Given the description of an element on the screen output the (x, y) to click on. 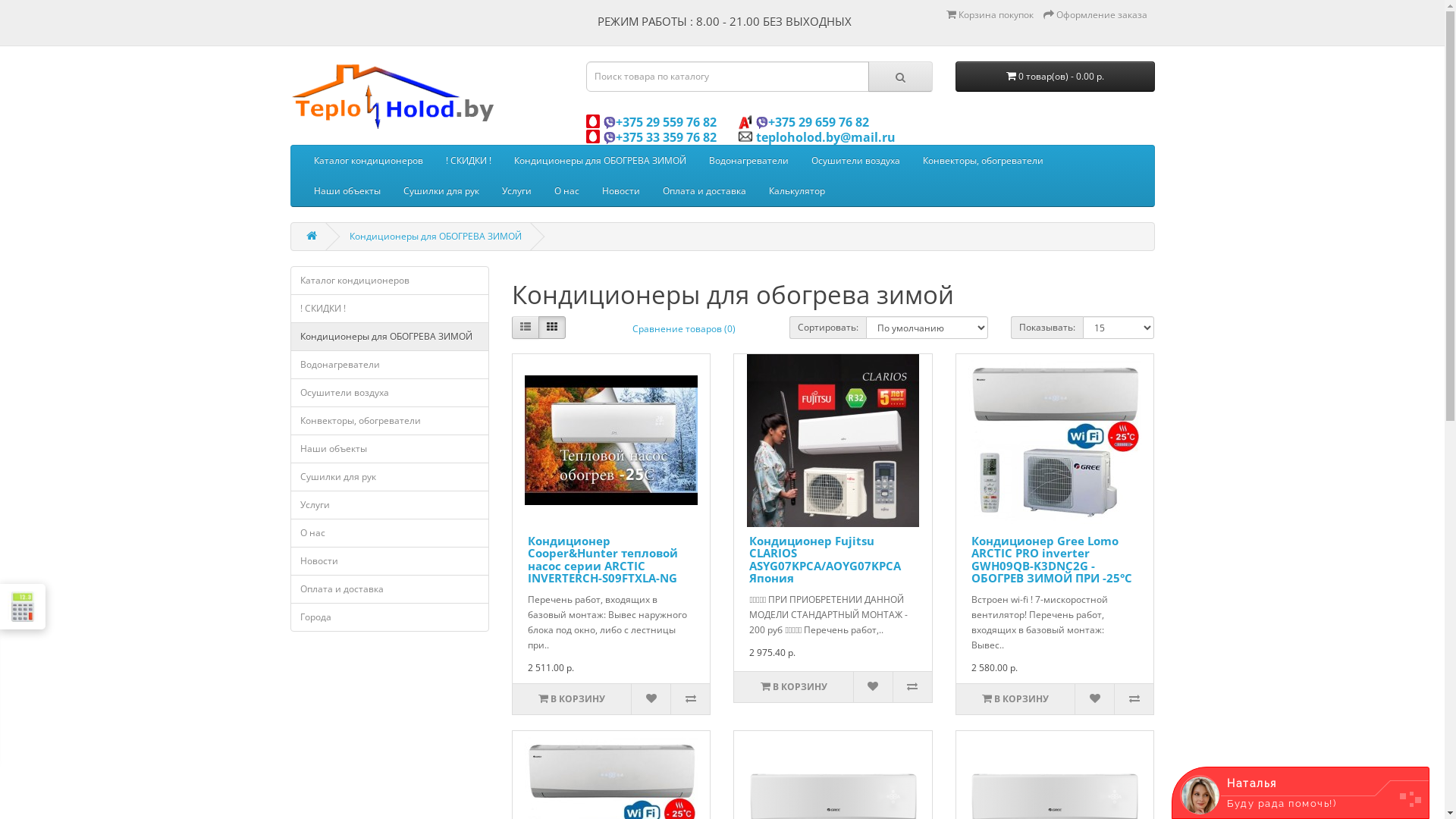
+375 29 559 76 82 Element type: text (661, 120)
TeploHolod.by Element type: hover (392, 94)
+375 33 359 76 82 Element type: text (661, 136)
+375 29 659 76 82 Element type: text (814, 120)
teploholod.by@mail.ru Element type: text (816, 136)
